Given the description of an element on the screen output the (x, y) to click on. 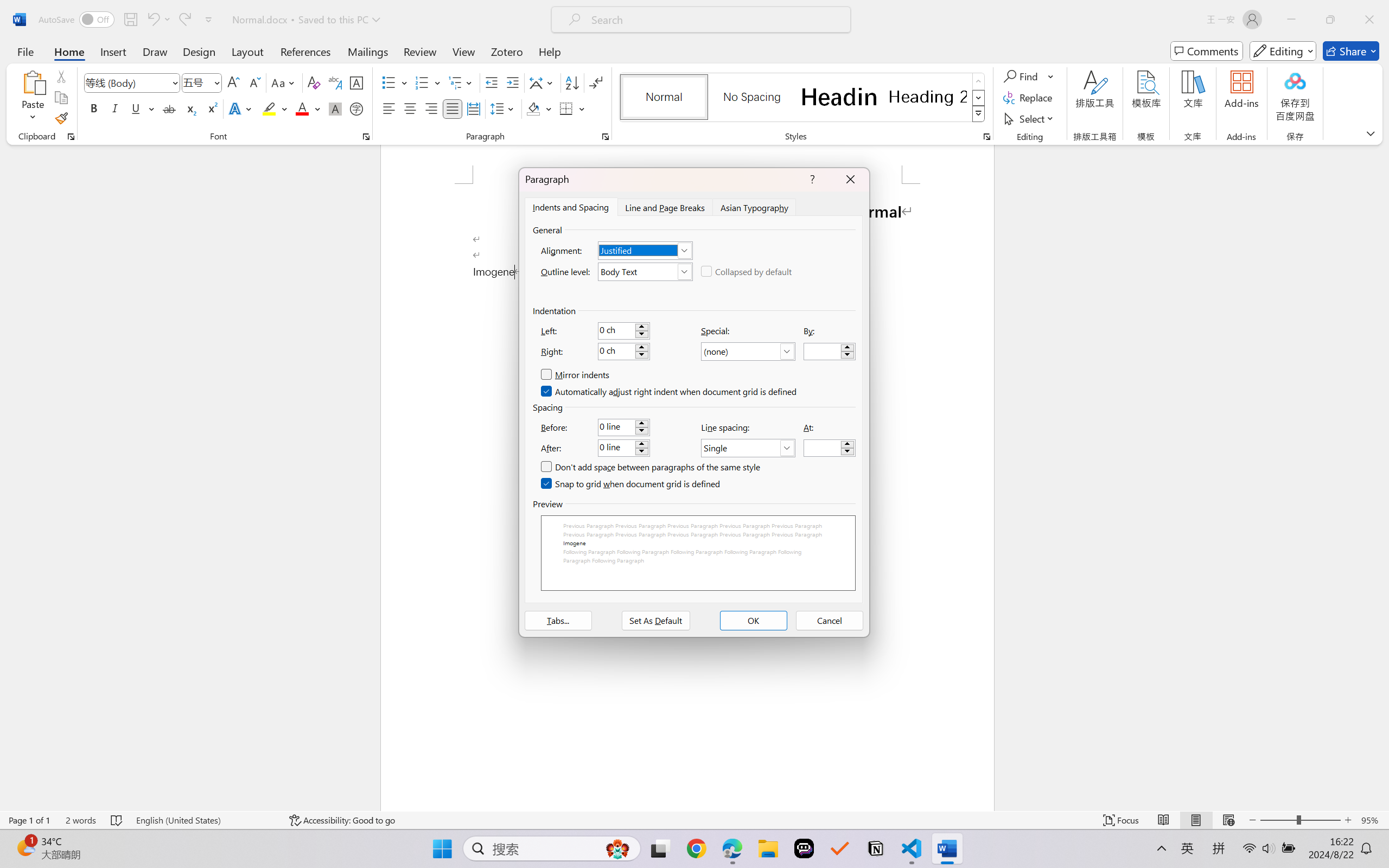
Distributed (473, 108)
Shading RGB(0, 0, 0) (533, 108)
Redo Style (184, 19)
